Given the description of an element on the screen output the (x, y) to click on. 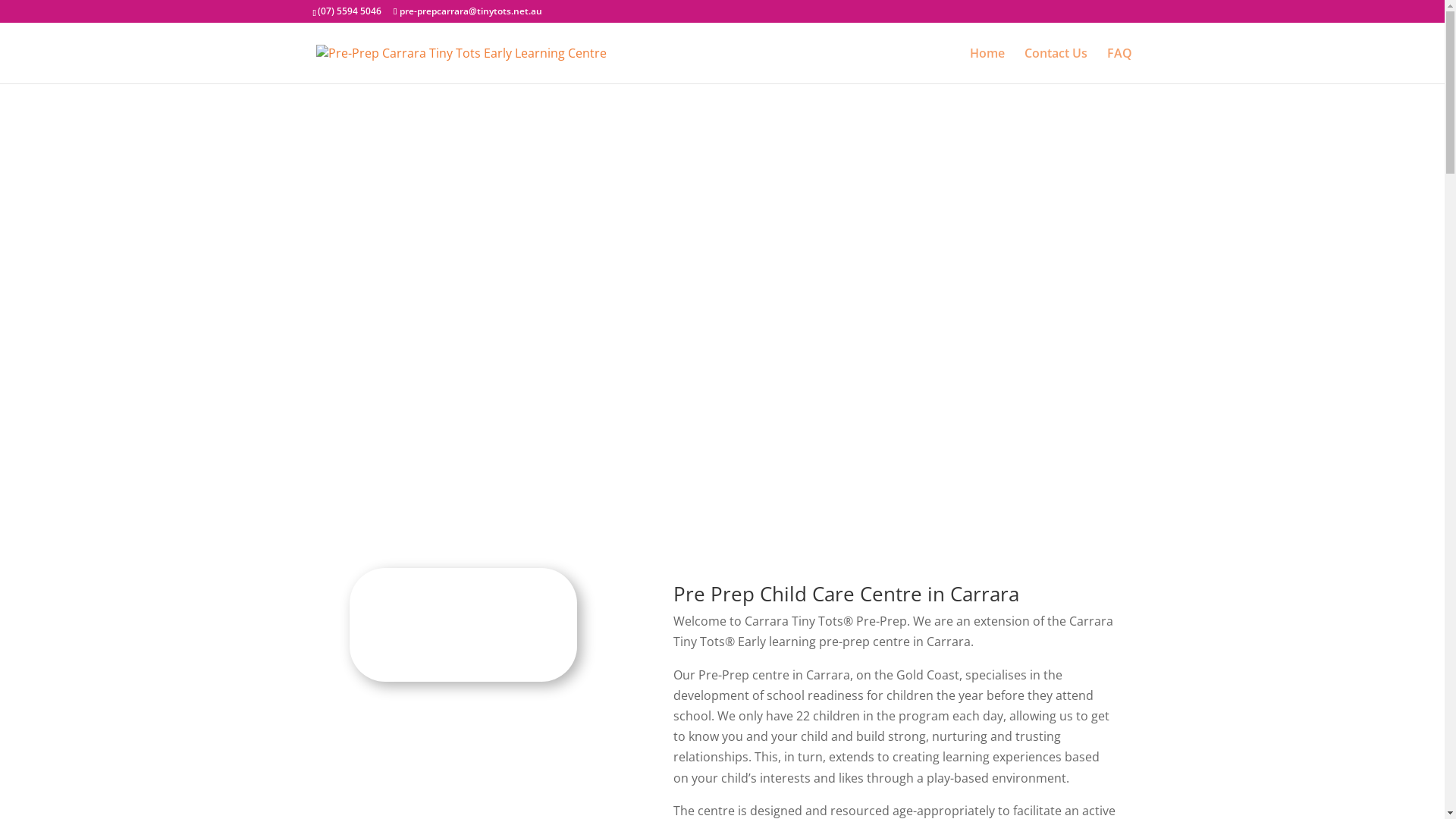
pre-prepcarrara@tinytots.net.au Element type: text (467, 10)
Contact Us Element type: text (1054, 65)
FAQ Element type: text (1119, 65)
(07) 5594 5046 Element type: text (349, 10)
Home Element type: text (986, 65)
